Given the description of an element on the screen output the (x, y) to click on. 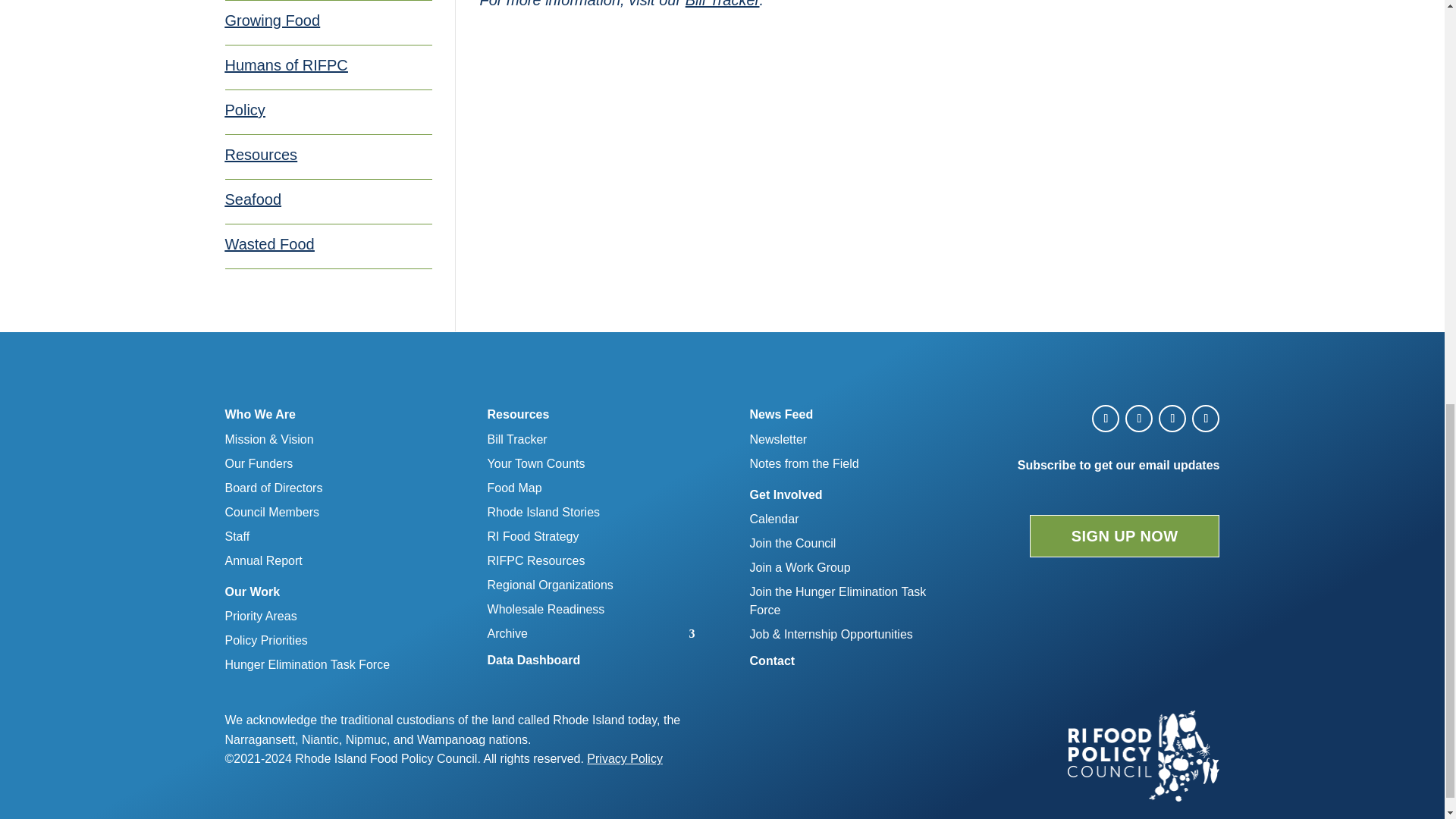
Follow on Instagram (1172, 418)
Follow on Facebook (1105, 418)
rifoodcouncil (1143, 755)
Follow on LinkedIn (1206, 418)
Follow on X (1139, 418)
